Given the description of an element on the screen output the (x, y) to click on. 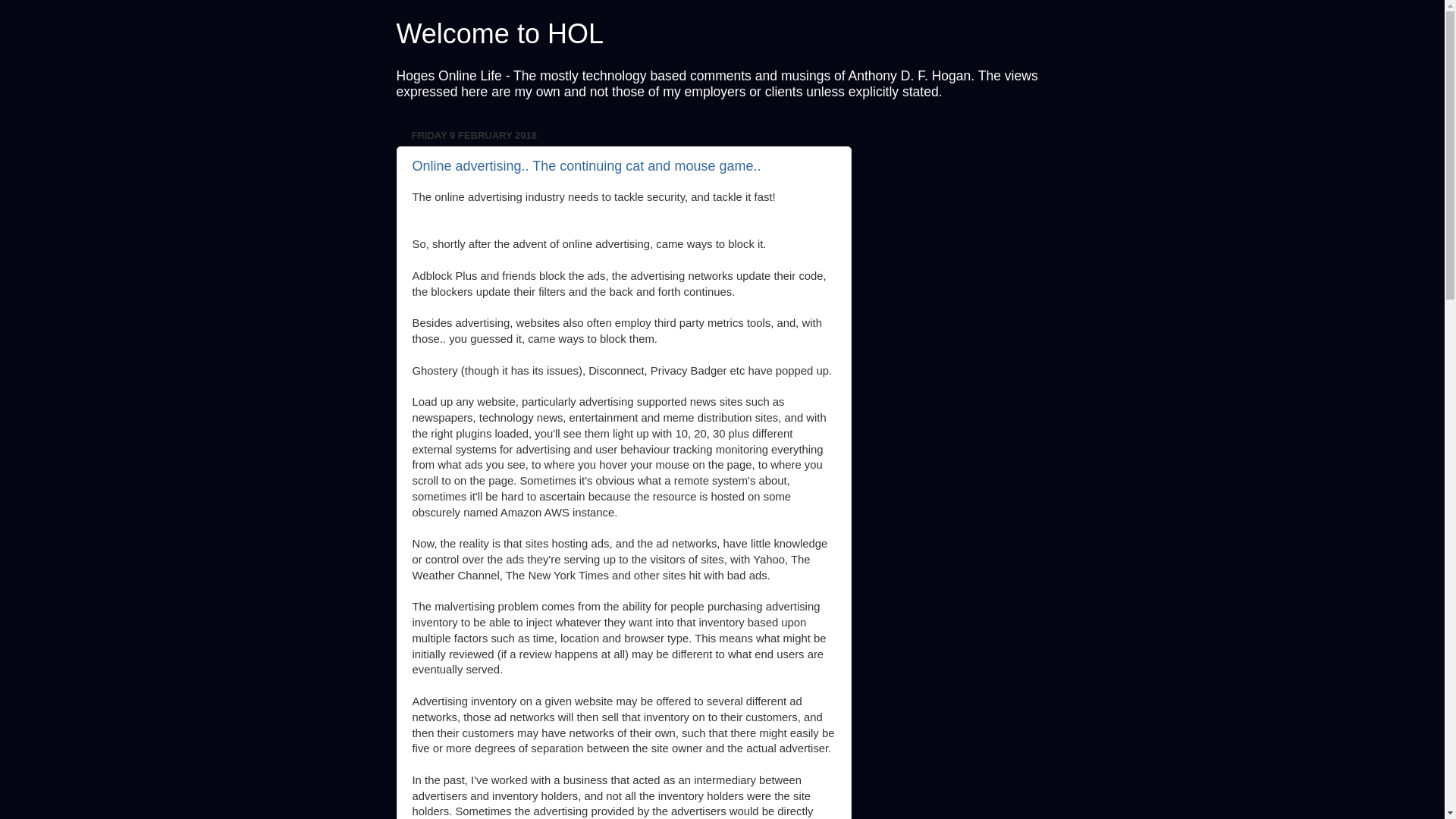
Online advertising.. The continuing cat and mouse game.. Element type: text (586, 165)
Welcome to HOL Element type: text (498, 33)
